Given the description of an element on the screen output the (x, y) to click on. 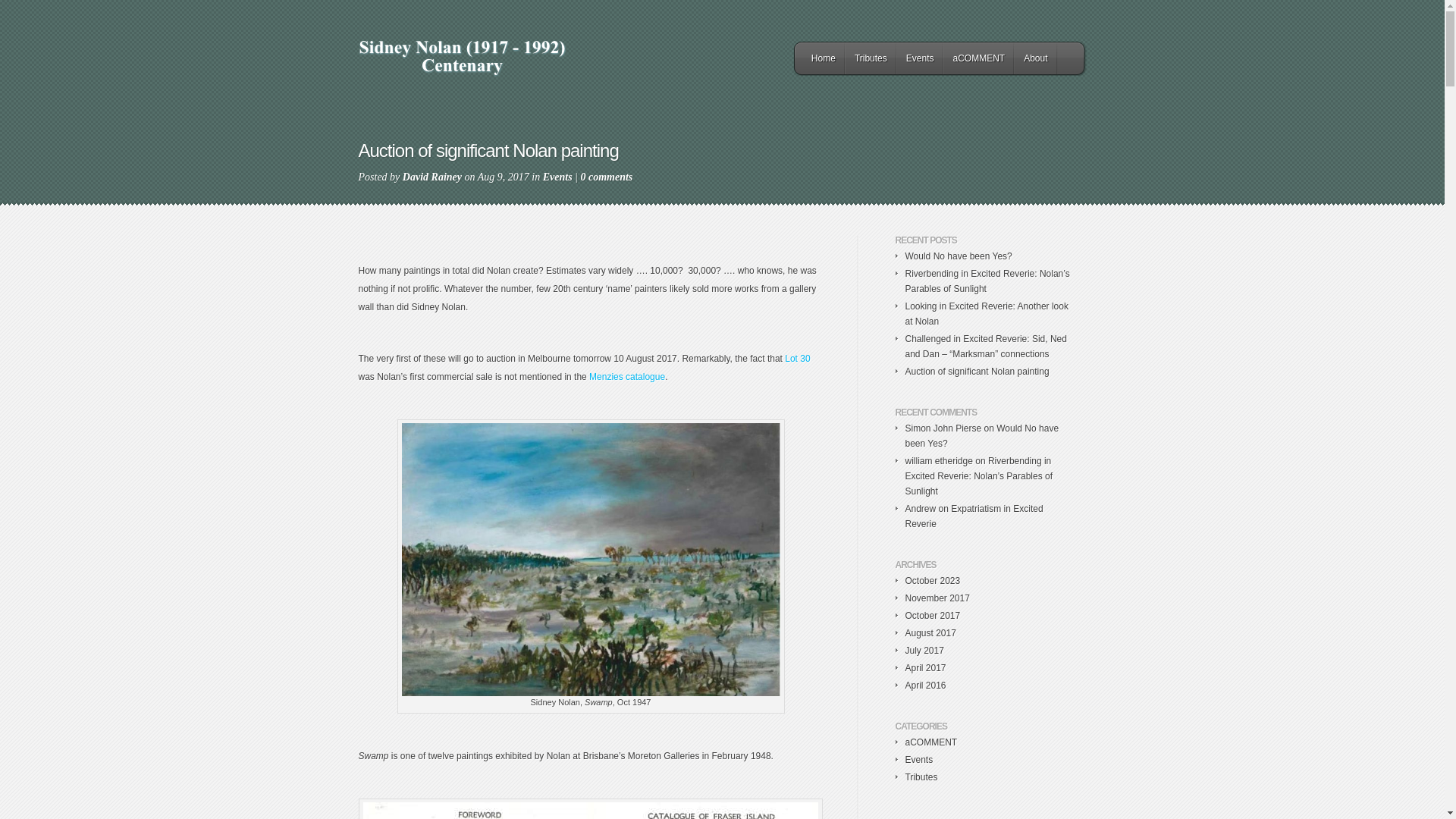
Events Element type: text (557, 176)
Auction of significant Nolan painting Element type: text (977, 371)
April 2016 Element type: text (925, 685)
About Element type: text (1035, 57)
November 2017 Element type: text (937, 598)
Would No have been Yes? Element type: text (982, 435)
Would No have been Yes? Element type: text (958, 256)
July 2017 Element type: text (924, 650)
October 2023 Element type: text (932, 580)
Events Element type: text (920, 57)
0 comments Element type: text (606, 176)
April 2017 Element type: text (925, 667)
Events Element type: text (919, 759)
August 2017 Element type: text (930, 632)
Tributes Element type: text (921, 776)
Expatriatism in Excited Reverie Element type: text (974, 516)
aCOMMENT Element type: text (978, 57)
October 2017 Element type: text (932, 615)
Lot 30 Element type: text (796, 358)
David Rainey Element type: text (431, 176)
Home Element type: text (823, 57)
william etheridge Element type: text (938, 460)
Tributes Element type: text (870, 57)
Menzies catalogue Element type: text (627, 376)
aCOMMENT Element type: text (931, 742)
Looking in Excited Reverie: Another look at Nolan Element type: text (986, 313)
